Given the description of an element on the screen output the (x, y) to click on. 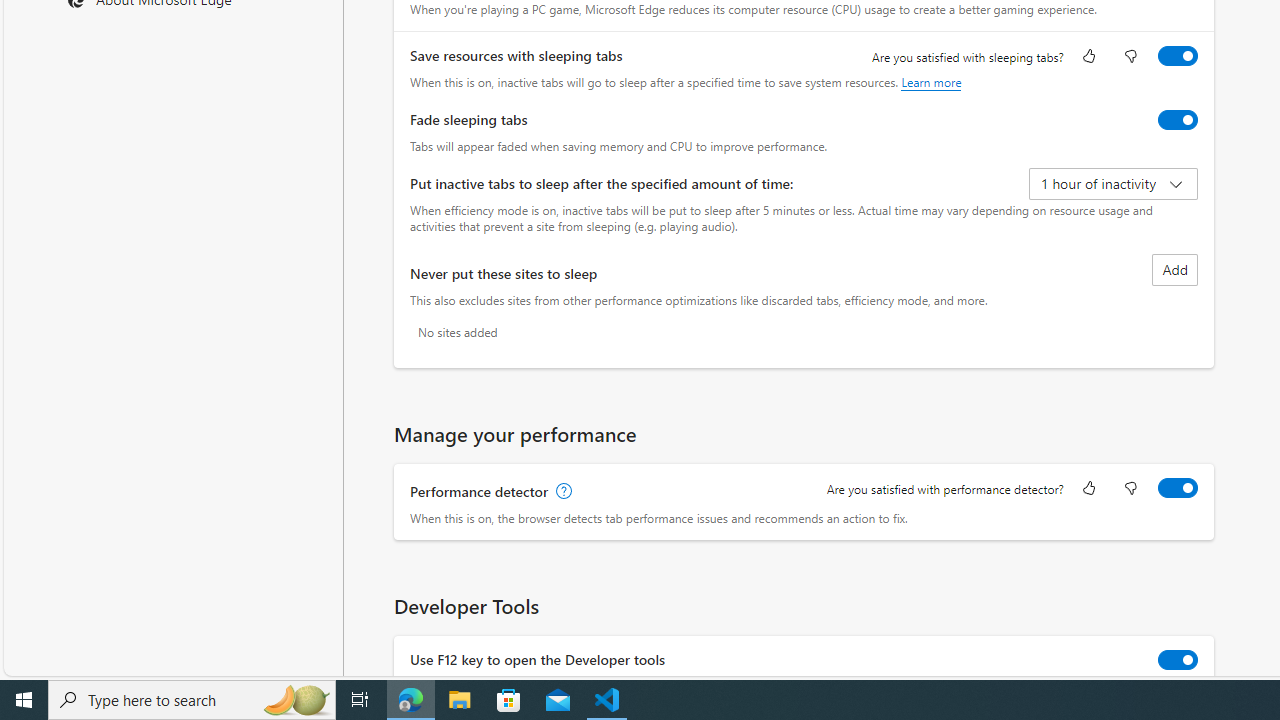
Performance detector, learn more (562, 492)
Learn more (931, 82)
Use F12 key to open the Developer tools (1178, 660)
Fade sleeping tabs (1178, 120)
Add site to never put these sites to sleep list (1175, 269)
Performance detector (1178, 488)
Save resources with sleeping tabs (1178, 56)
